Given the description of an element on the screen output the (x, y) to click on. 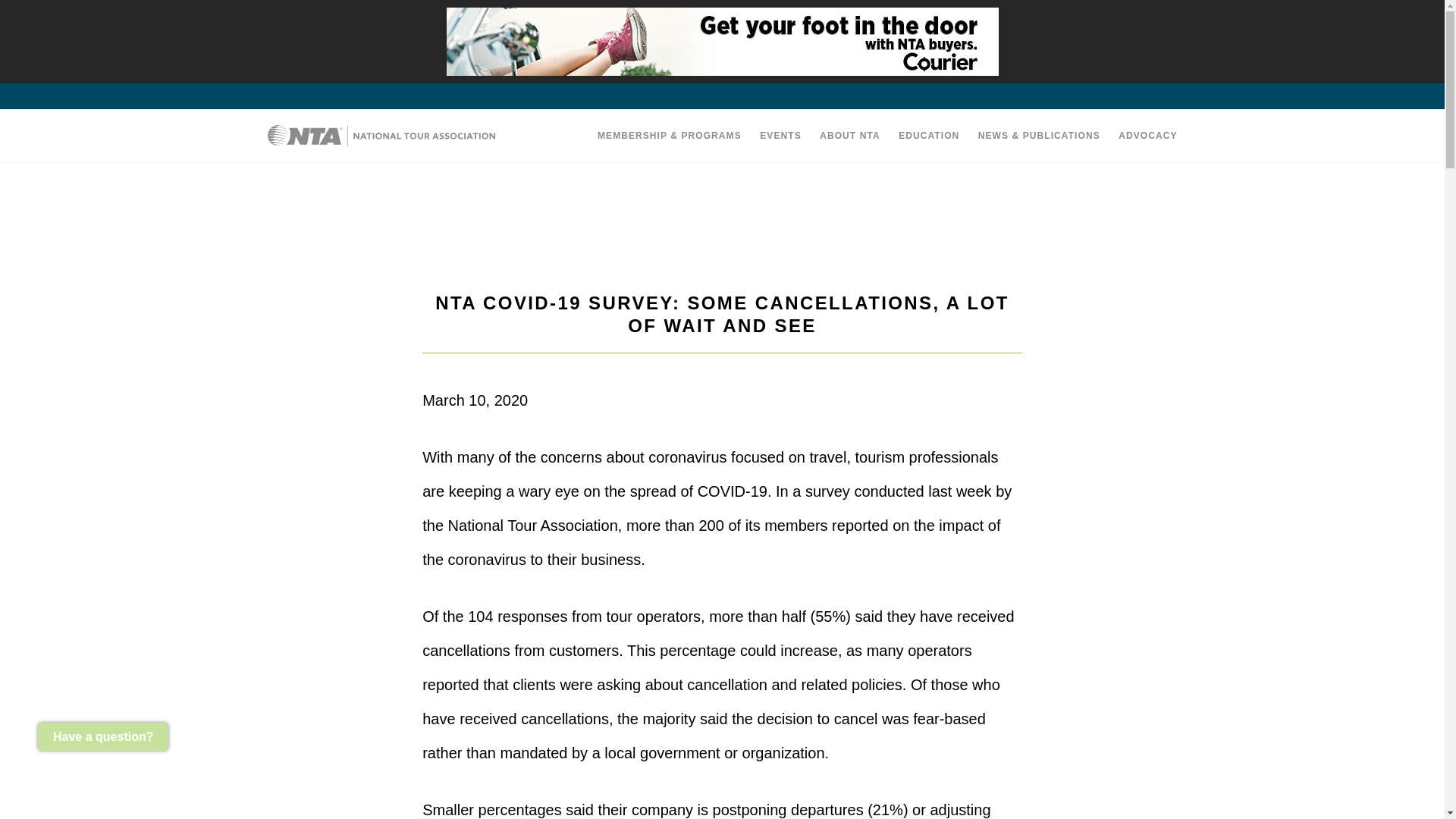
ABOUT NTA (849, 135)
National Tour Association (380, 135)
Search for: (721, 71)
Foot 728x90 (721, 41)
